Given the description of an element on the screen output the (x, y) to click on. 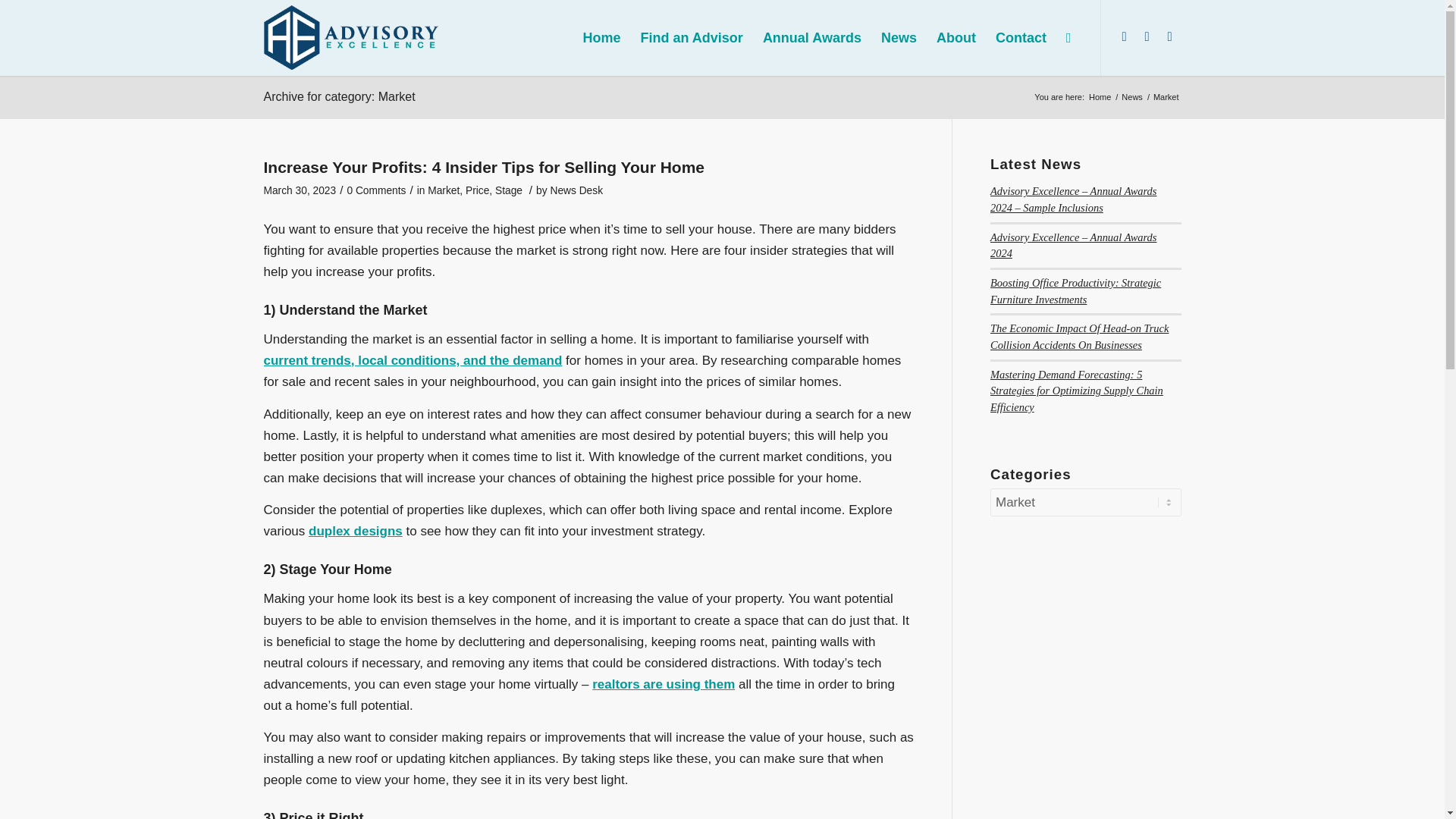
Stage (508, 190)
LinkedIn (1124, 36)
News Desk (576, 190)
Annual Awards (811, 38)
Home (1099, 97)
duplex designs (355, 531)
Price (477, 190)
Archive for category: Market (338, 96)
Advisory Excellence (1099, 97)
Advisory-Excellence-logo (351, 36)
Increase Your Profits: 4 Insider Tips for Selling Your Home (483, 167)
Permanent Link: Archive for category: Market (338, 96)
